Given the description of an element on the screen output the (x, y) to click on. 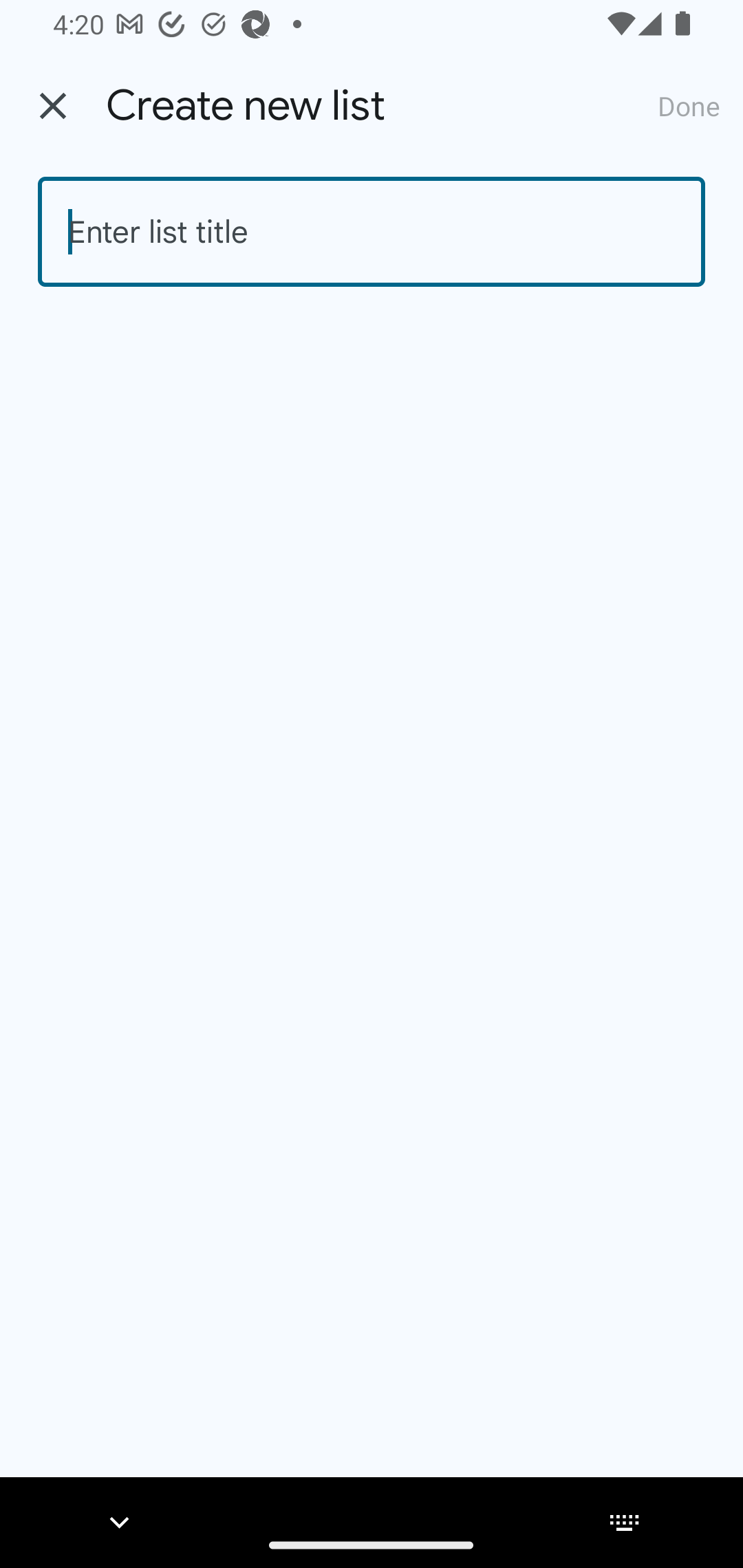
Back (53, 105)
Done (689, 105)
Enter list title (371, 231)
